Given the description of an element on the screen output the (x, y) to click on. 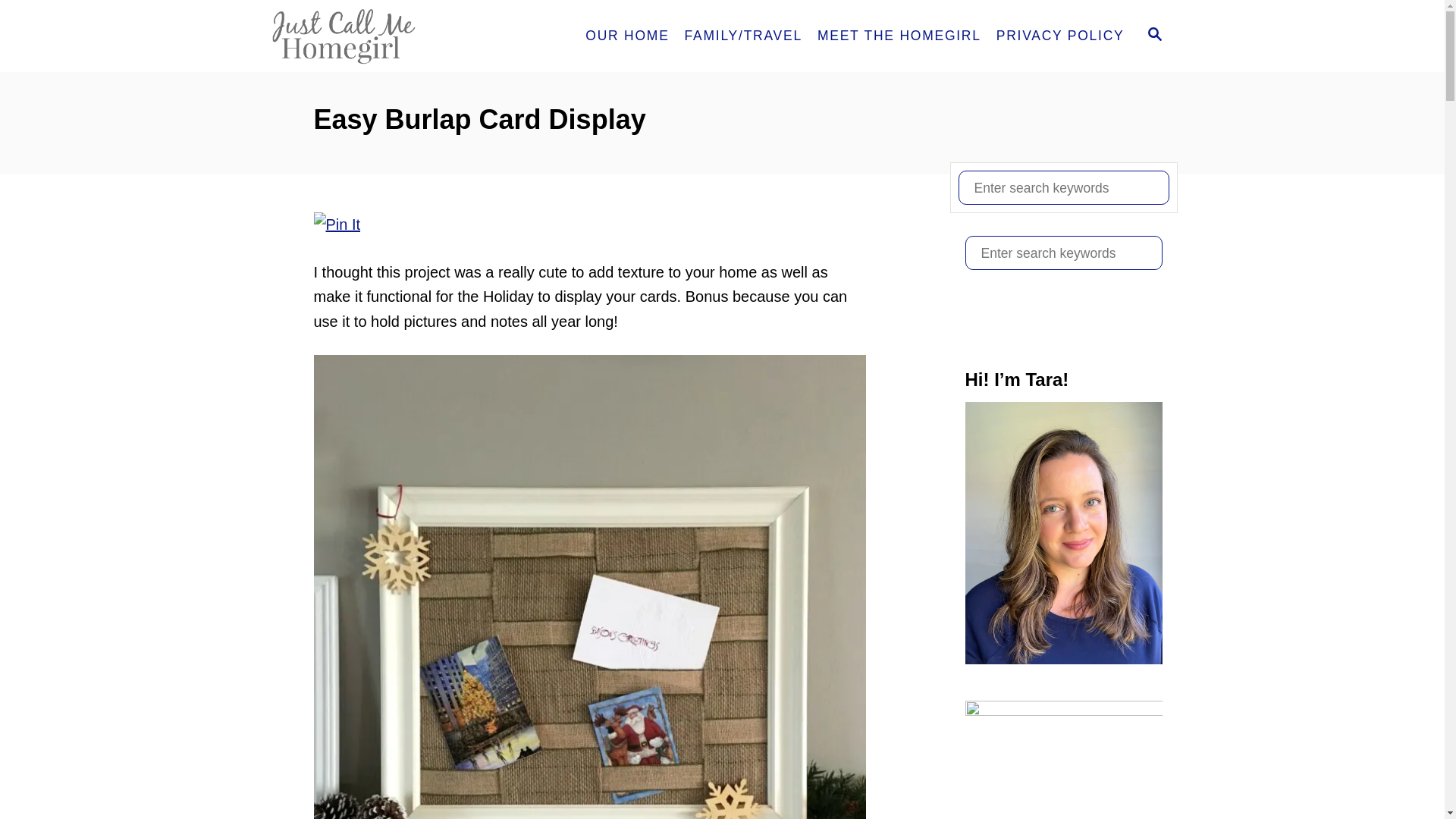
Just Call Me Homegirl (400, 36)
OUR HOME (627, 36)
MEET THE HOMEGIRL (898, 36)
Pin It (337, 224)
PRIVACY POLICY (1060, 36)
SEARCH (1154, 35)
Search for: (1063, 187)
Search for: (1062, 252)
